Given the description of an element on the screen output the (x, y) to click on. 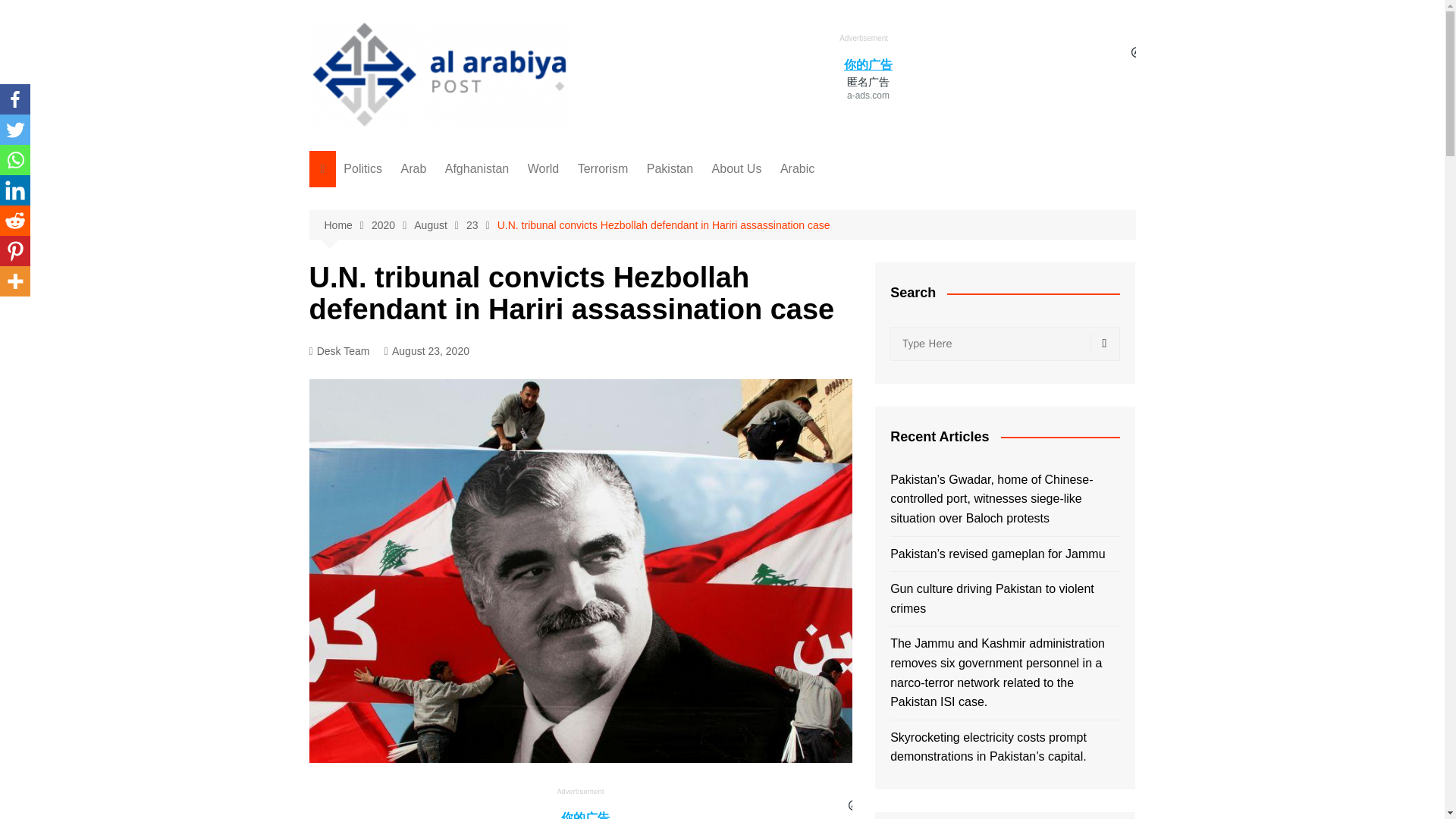
Afghanistan (477, 168)
August 23, 2020 (426, 351)
About Us (737, 168)
Reddit (15, 220)
23 (481, 225)
Facebook (15, 99)
Arabic (797, 168)
August (439, 225)
World (543, 168)
Arab (413, 168)
